Given the description of an element on the screen output the (x, y) to click on. 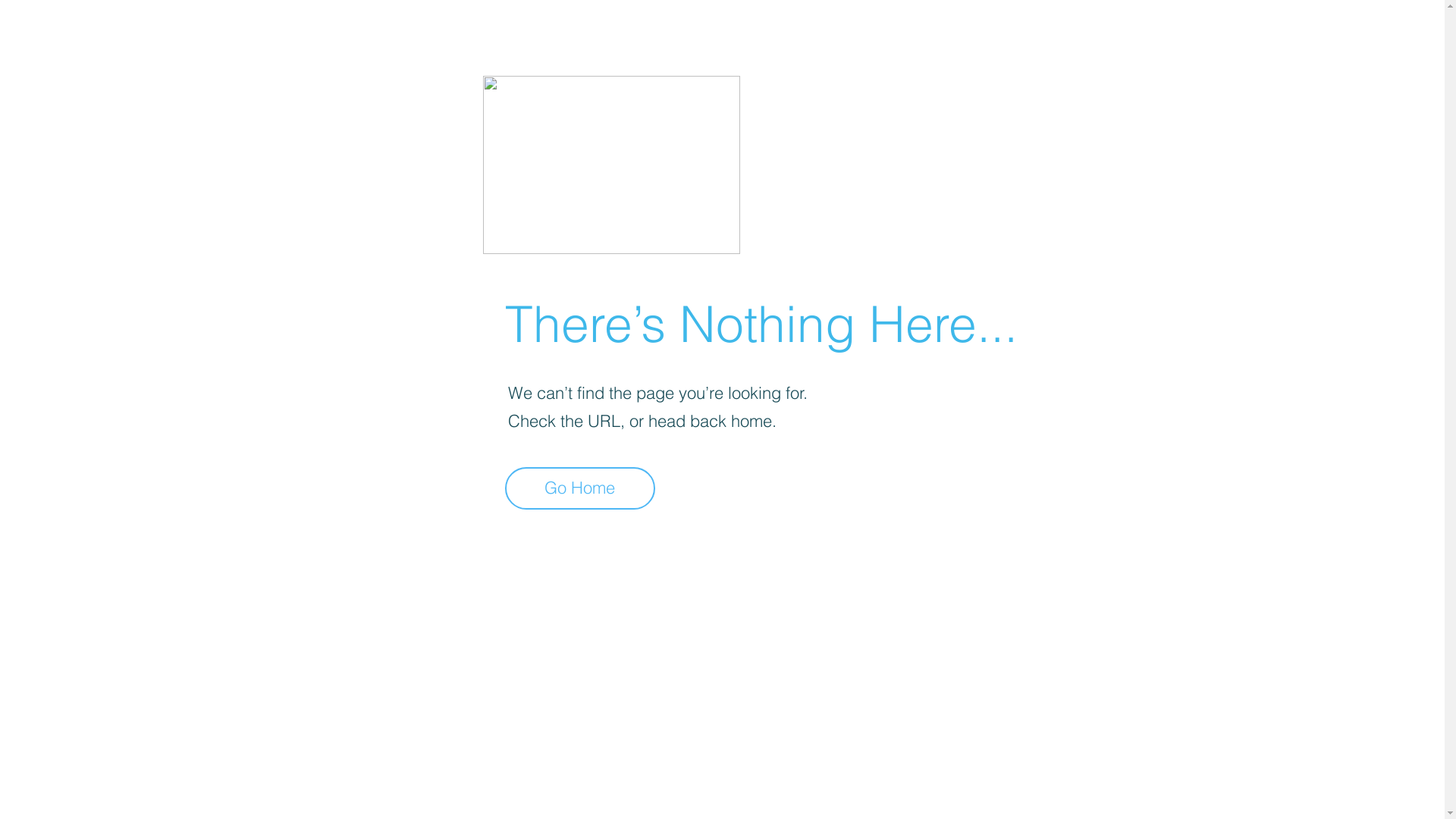
Go Home Element type: text (580, 488)
404-icon_2.png Element type: hover (610, 164)
